Given the description of an element on the screen output the (x, y) to click on. 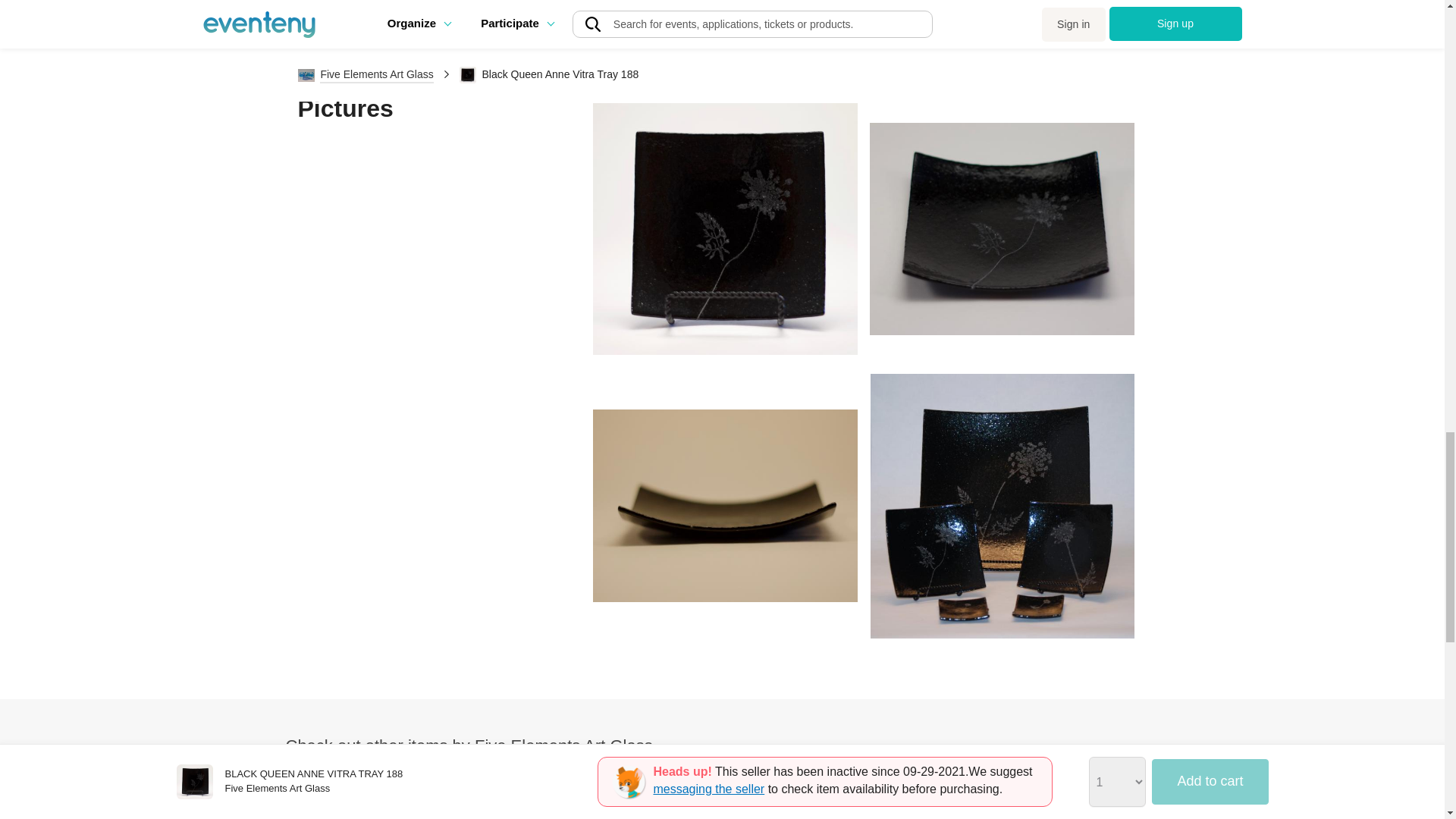
View or purchase Fern Vitra Deep Bowl (612, 799)
View or purchase Covid 1 (831, 799)
View or purchase Crab Mon Blue Aqua 246 (394, 799)
View or purchase Foxtail Fern Vitra (1049, 799)
